Given the description of an element on the screen output the (x, y) to click on. 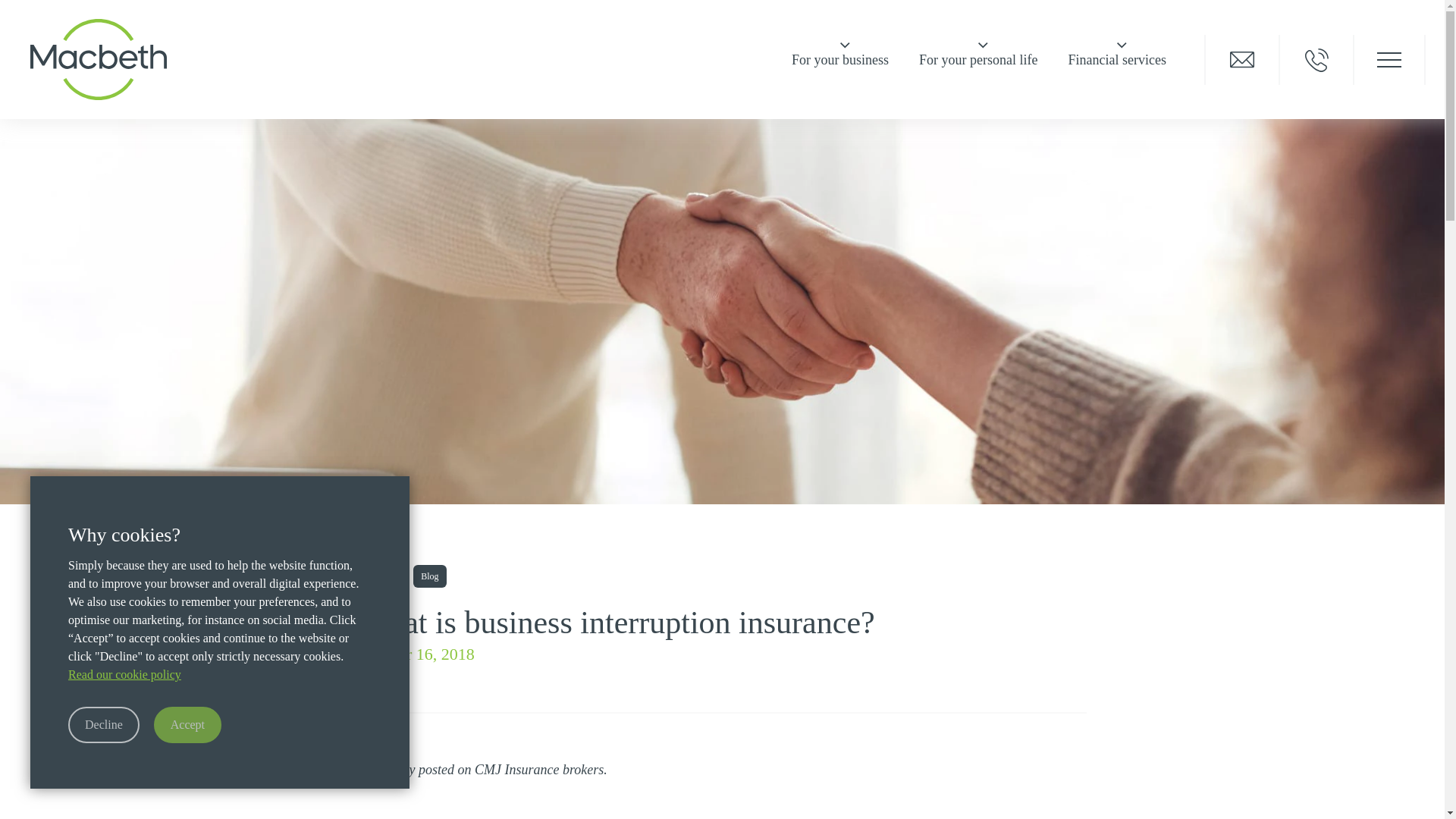
For your business (840, 59)
Macbeth (98, 57)
Financial services (1116, 59)
For your personal life (978, 59)
